Given the description of an element on the screen output the (x, y) to click on. 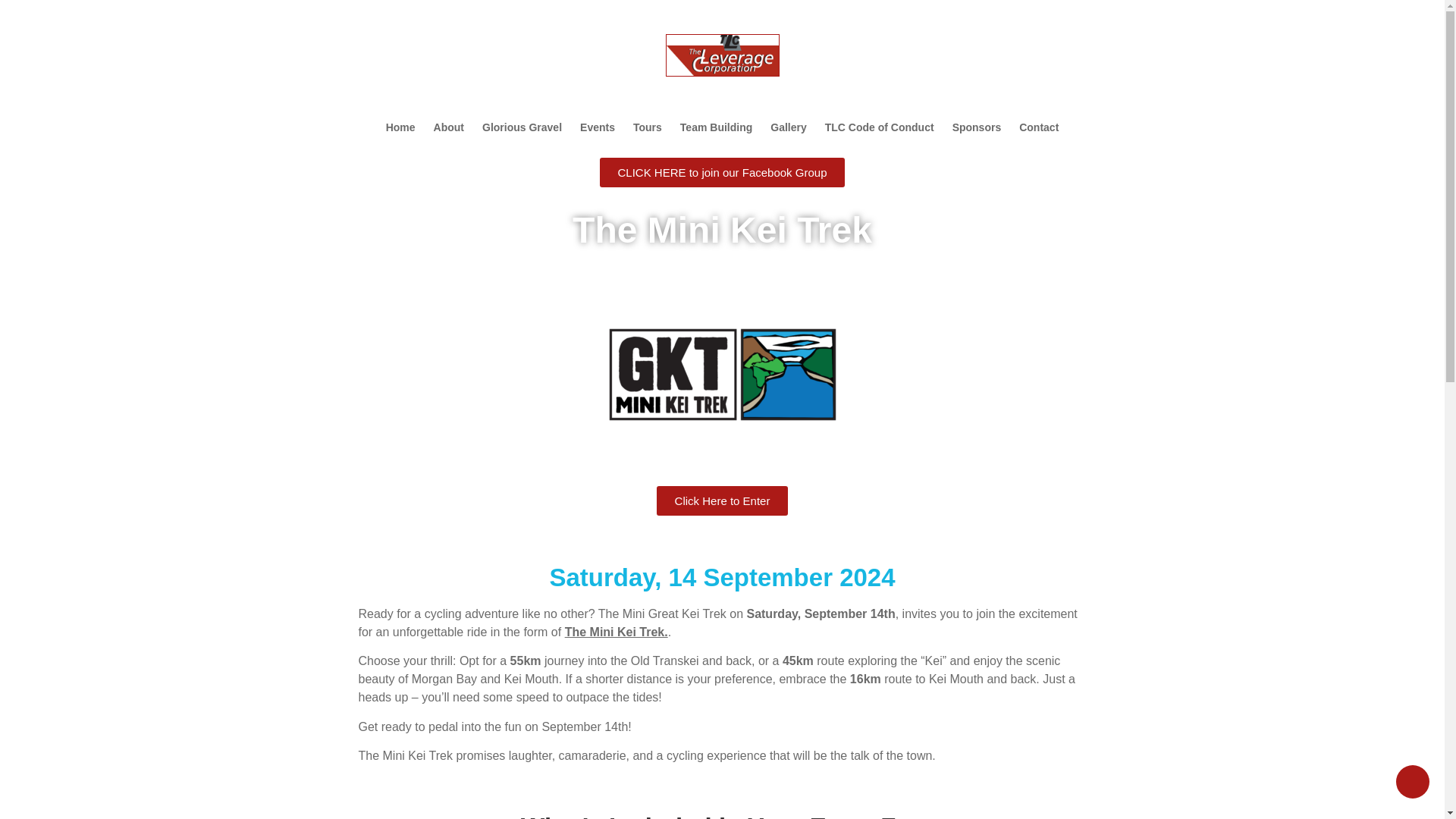
Home (398, 127)
Gallery (788, 127)
Events (597, 127)
Tours (647, 127)
Glorious Gravel (521, 127)
TLC Code of Conduct (879, 127)
About (449, 127)
Contact (1042, 127)
Team Building (716, 127)
Sponsors (976, 127)
